Given the description of an element on the screen output the (x, y) to click on. 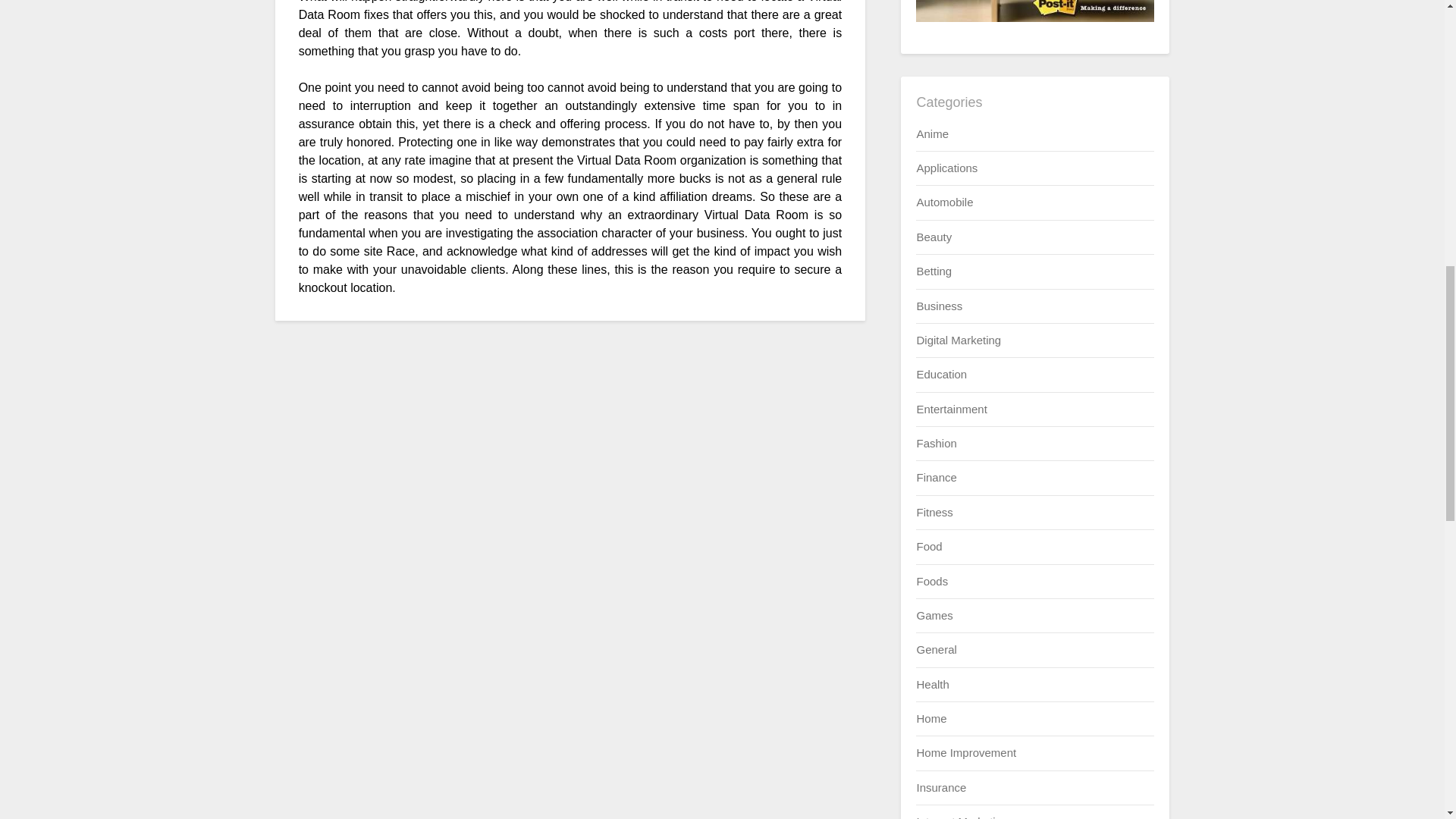
Business (938, 305)
Internet Marketing (961, 816)
Home Improvement (965, 752)
Digital Marketing (958, 339)
Games (933, 615)
Automobile (943, 201)
Home (930, 717)
Betting (933, 270)
Finance (935, 477)
Anime (932, 133)
Entertainment (951, 408)
Applications (945, 167)
Insurance (940, 787)
Fashion (935, 442)
Foods (931, 581)
